Given the description of an element on the screen output the (x, y) to click on. 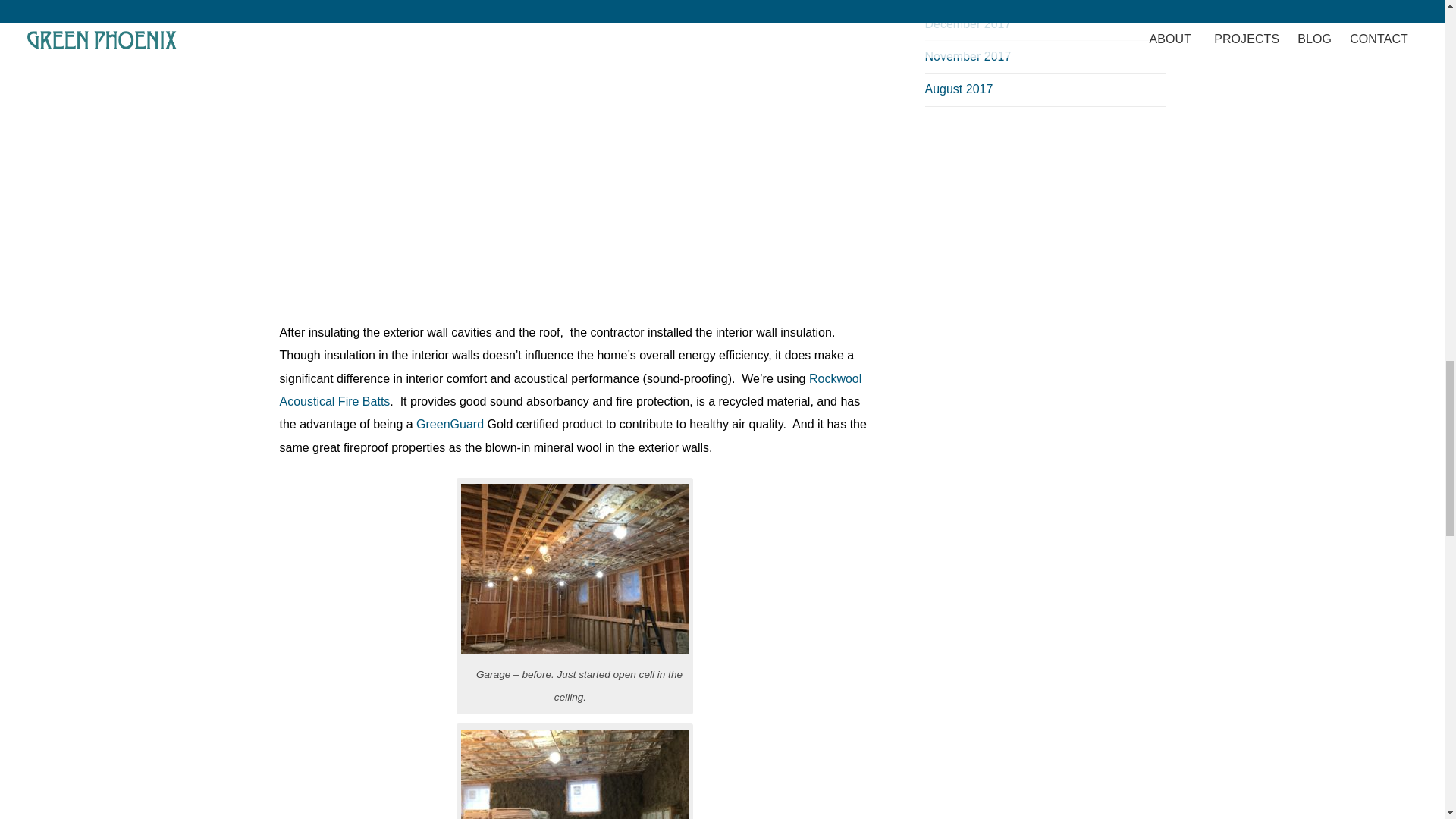
GreenGuard (449, 423)
Rockwool Acoustical Fire Batts (570, 389)
